Given the description of an element on the screen output the (x, y) to click on. 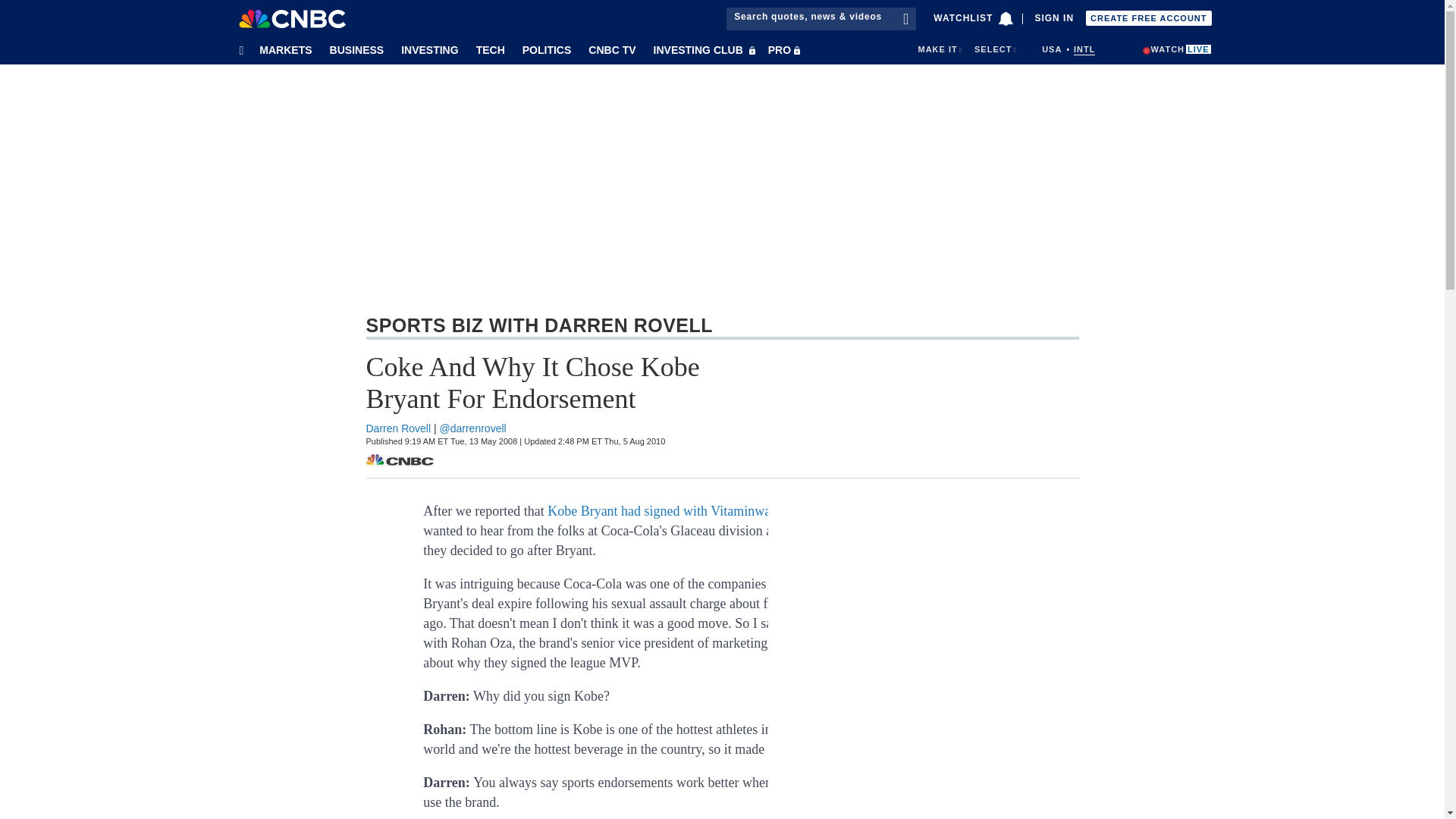
BUSINESS (354, 48)
MARKETS (282, 48)
INVESTING (427, 48)
makeit (936, 49)
TECH (487, 48)
